Given the description of an element on the screen output the (x, y) to click on. 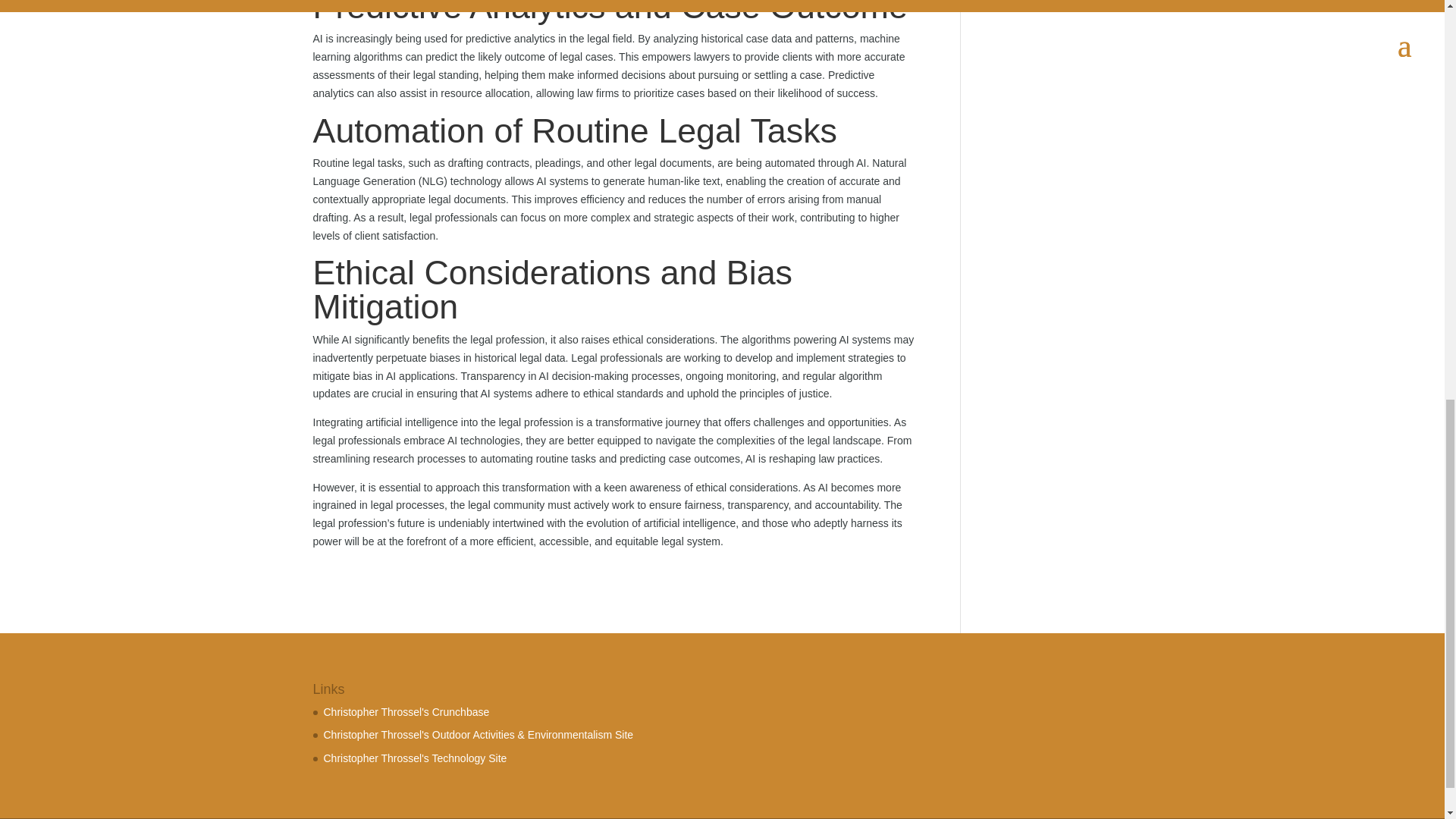
Christopher Throssel's Crunchbase (406, 711)
Christopher Throssel's Technology Site (414, 758)
